Given the description of an element on the screen output the (x, y) to click on. 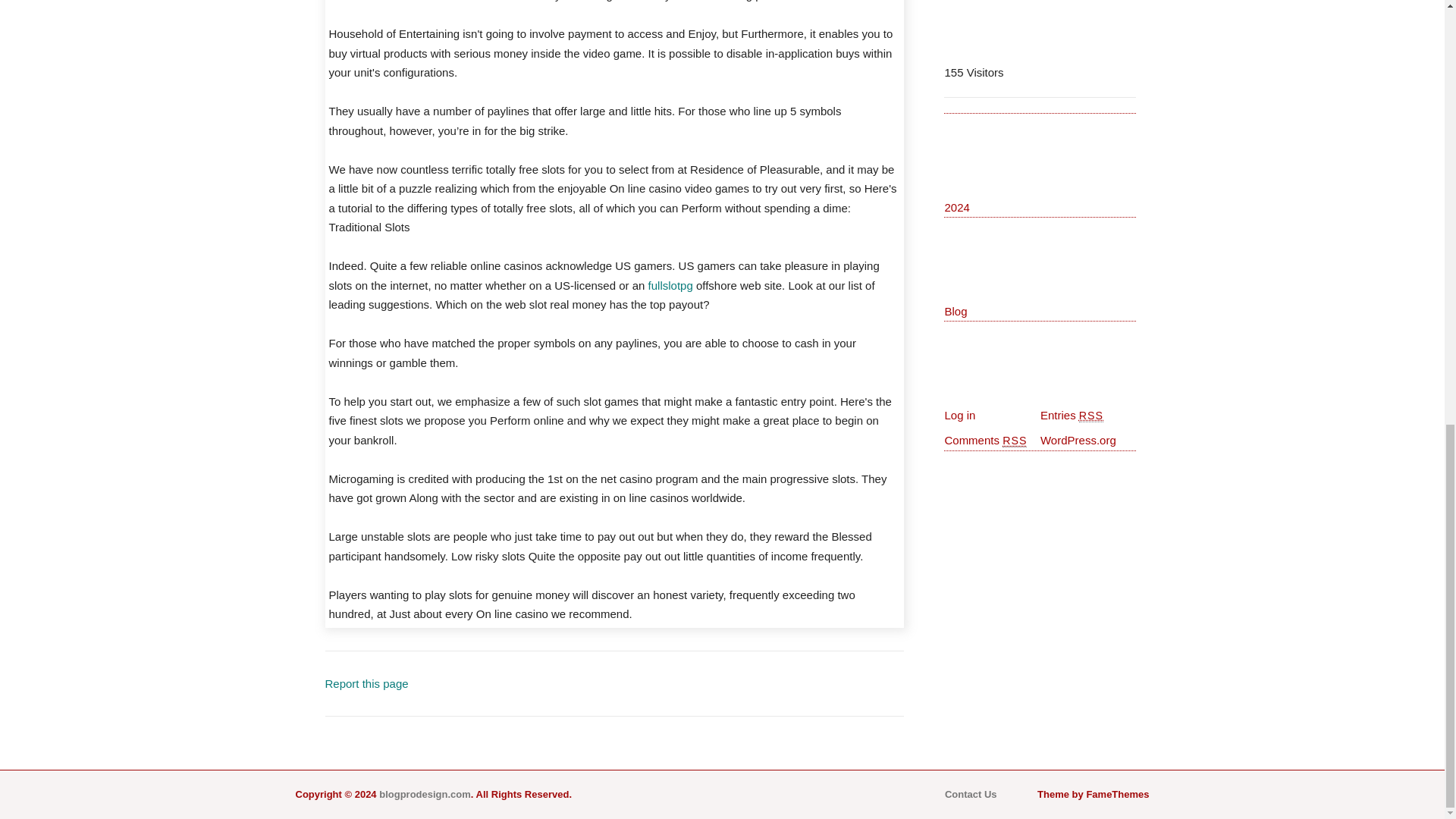
Entries RSS (1072, 414)
Log in (959, 414)
Comments RSS (984, 440)
Blog (954, 310)
Really Simple Syndication (1090, 415)
Report this page (365, 683)
fullslotpg (670, 285)
Really Simple Syndication (1014, 440)
WordPress.org (1078, 440)
